Given the description of an element on the screen output the (x, y) to click on. 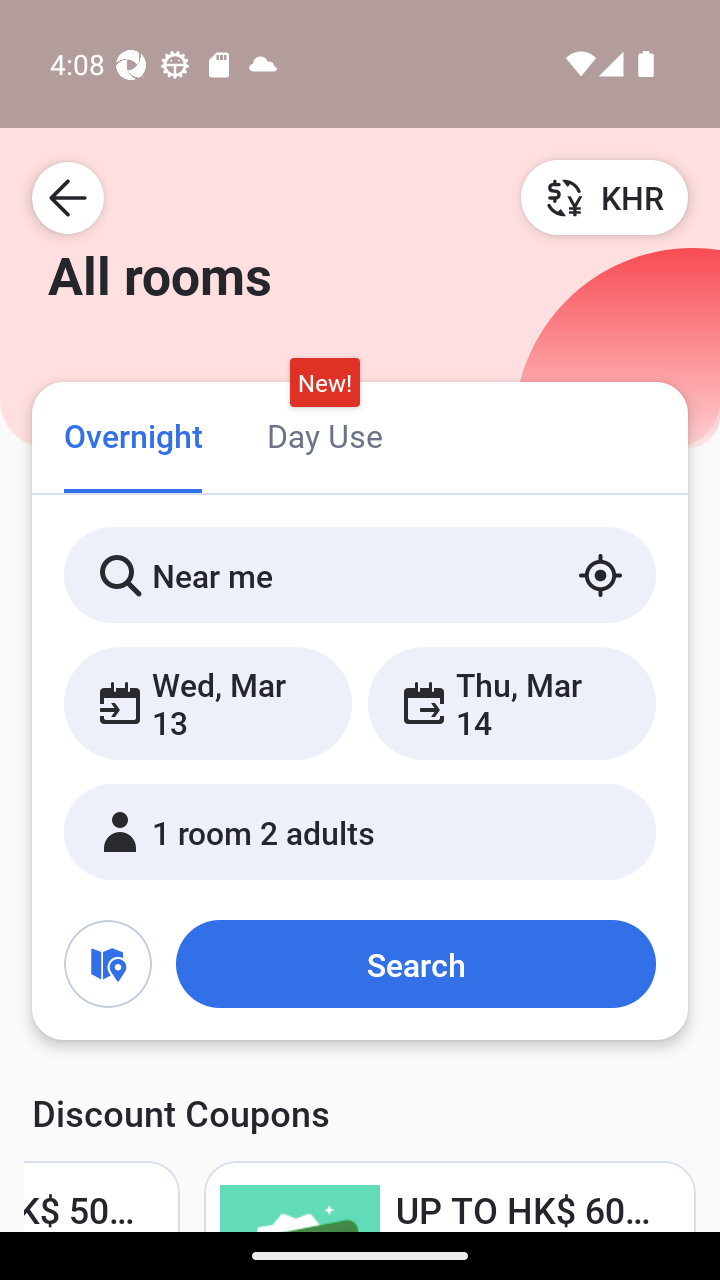
KHR (604, 197)
New! (324, 383)
Day Use (324, 434)
Near me (359, 575)
Wed, Mar 13 (208, 703)
Thu, Mar 14 (511, 703)
1 room 2 adults (359, 831)
Search (415, 964)
